Given the description of an element on the screen output the (x, y) to click on. 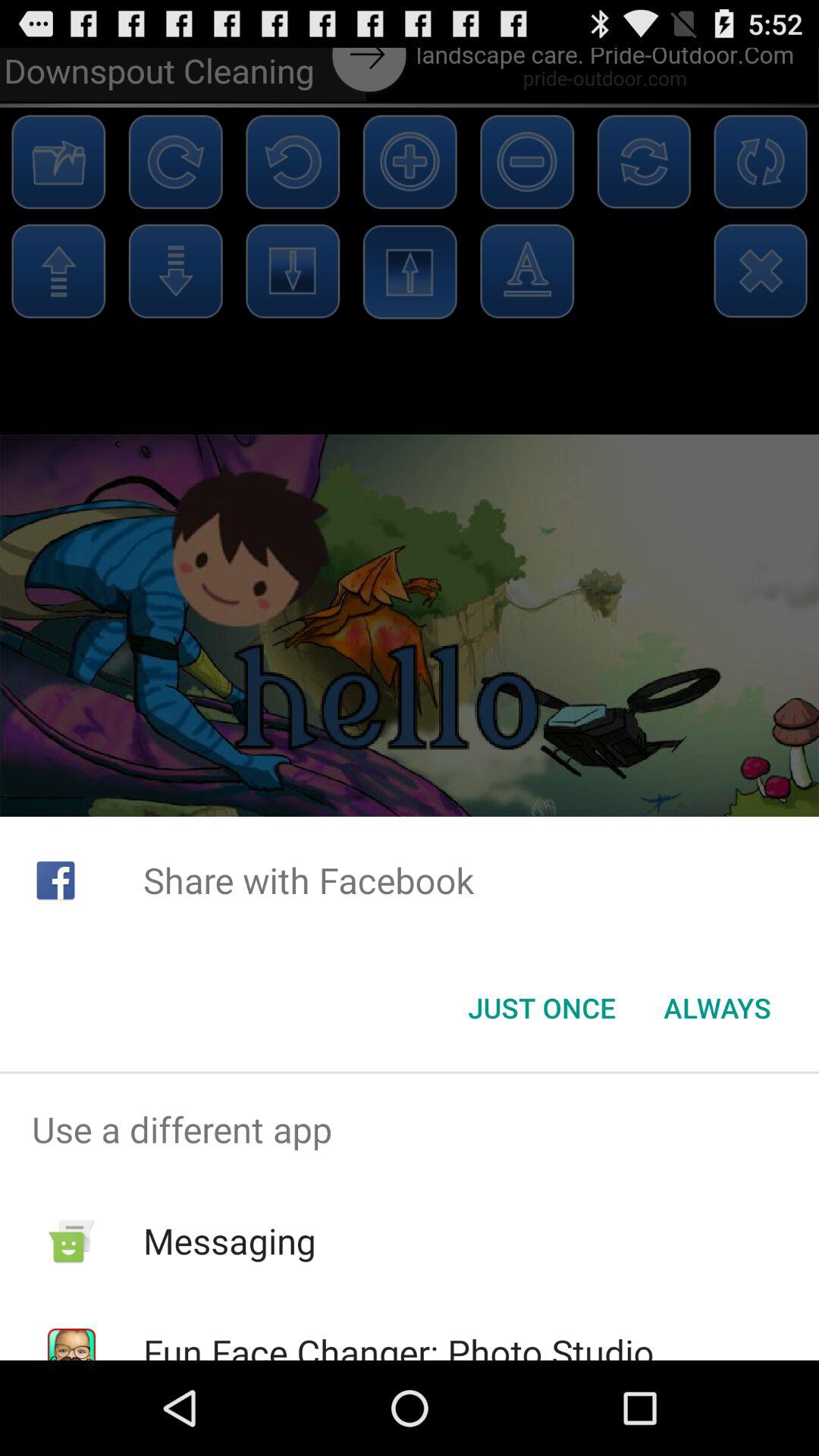
open the icon to the left of the always (541, 1007)
